Given the description of an element on the screen output the (x, y) to click on. 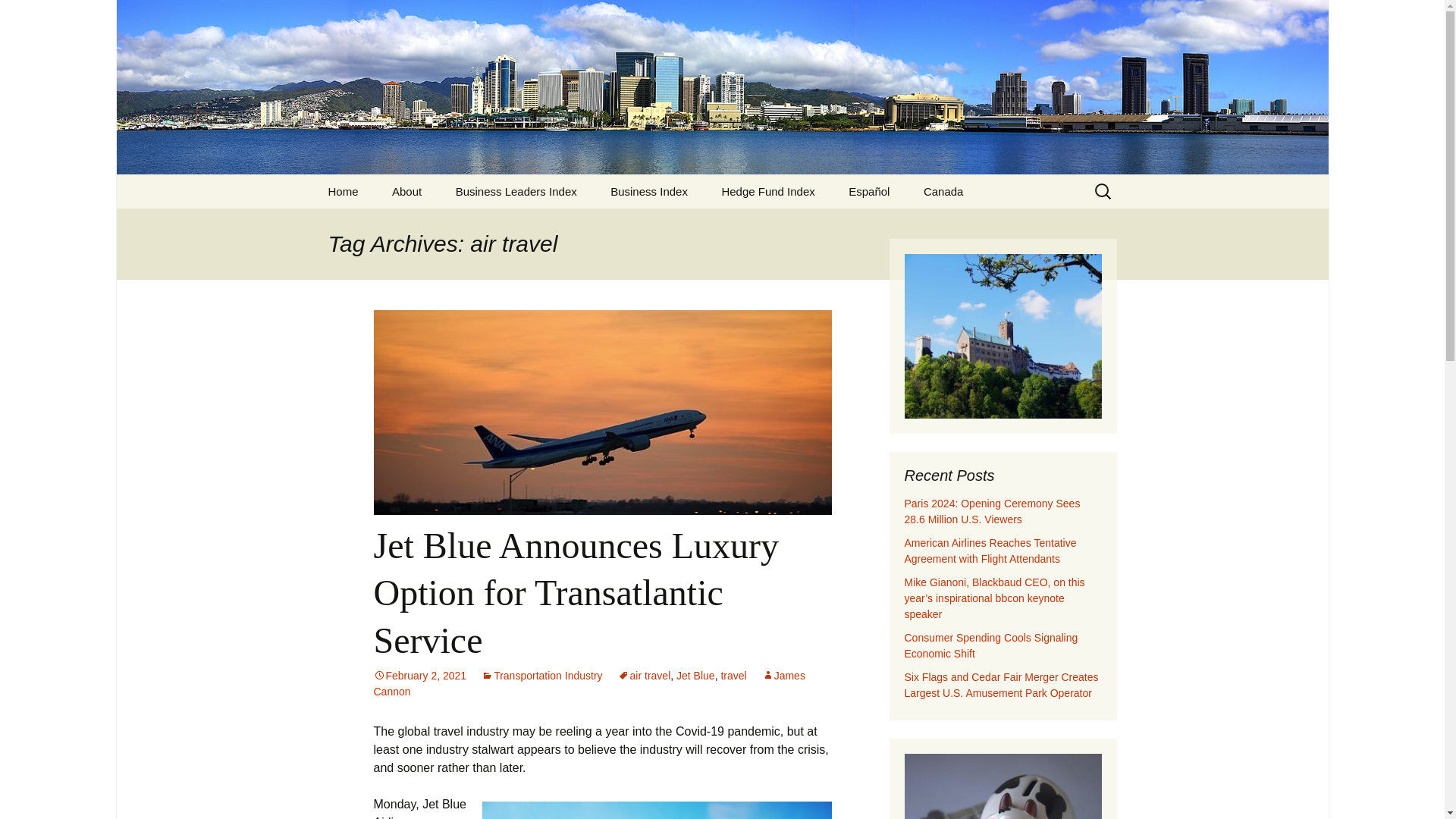
Search (18, 15)
Consumer Spending Cools Signaling Economic Shift (990, 645)
Business Leaders Index (516, 191)
Jet Blue Announces Luxury Option for Transatlantic Service (575, 592)
Jet Blue (695, 675)
Home (342, 191)
Hedge Fund Index (767, 191)
Transportation Industry (541, 675)
air travel (644, 675)
Canada (943, 191)
Paris 2024: Opening Ceremony Sees 28.6 Million U.S. Viewers (992, 511)
February 2, 2021 (418, 675)
